Given the description of an element on the screen output the (x, y) to click on. 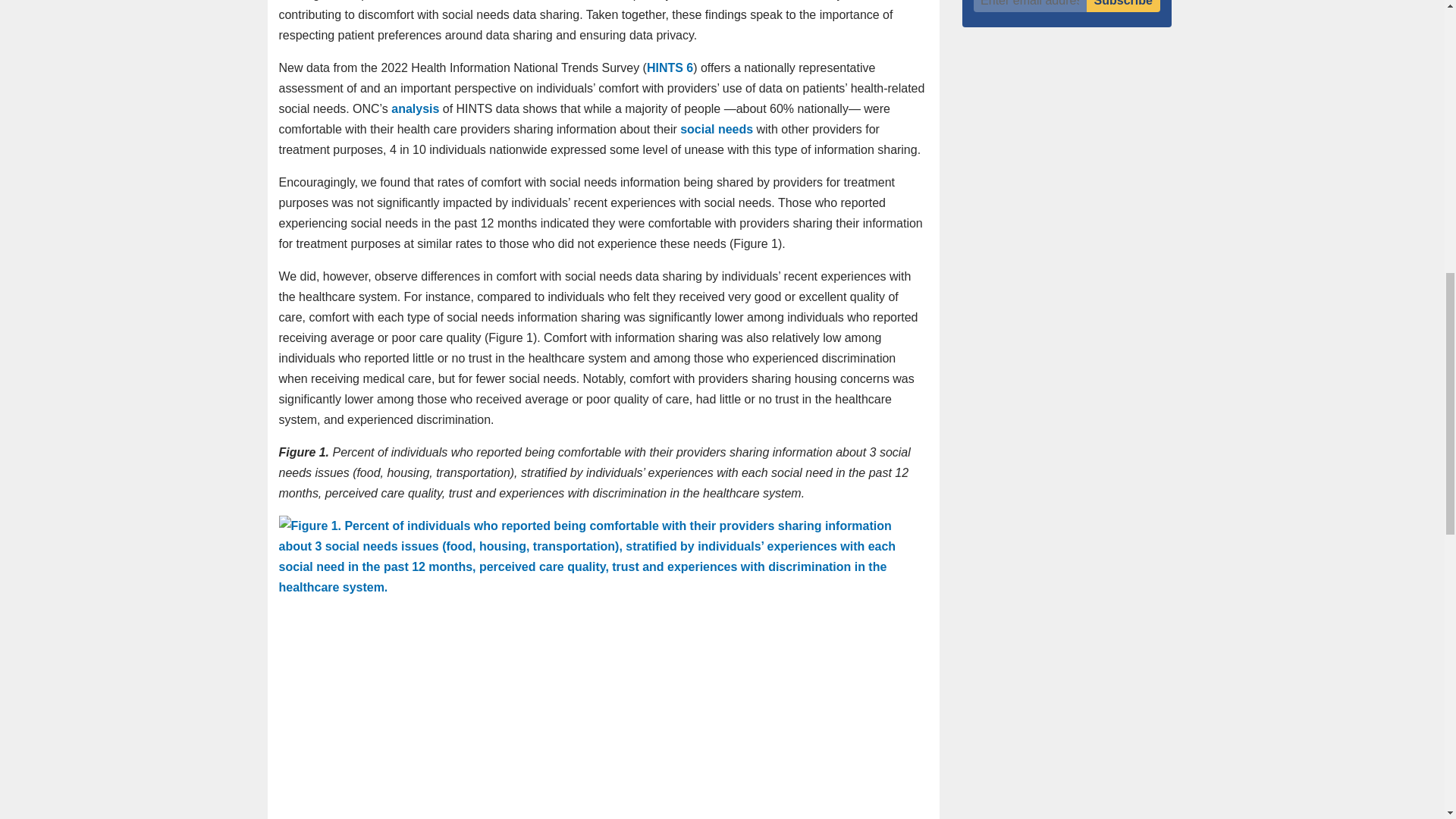
Subscribe (1123, 6)
HINTS 6 (669, 67)
social needs (715, 128)
analysis (415, 108)
